Given the description of an element on the screen output the (x, y) to click on. 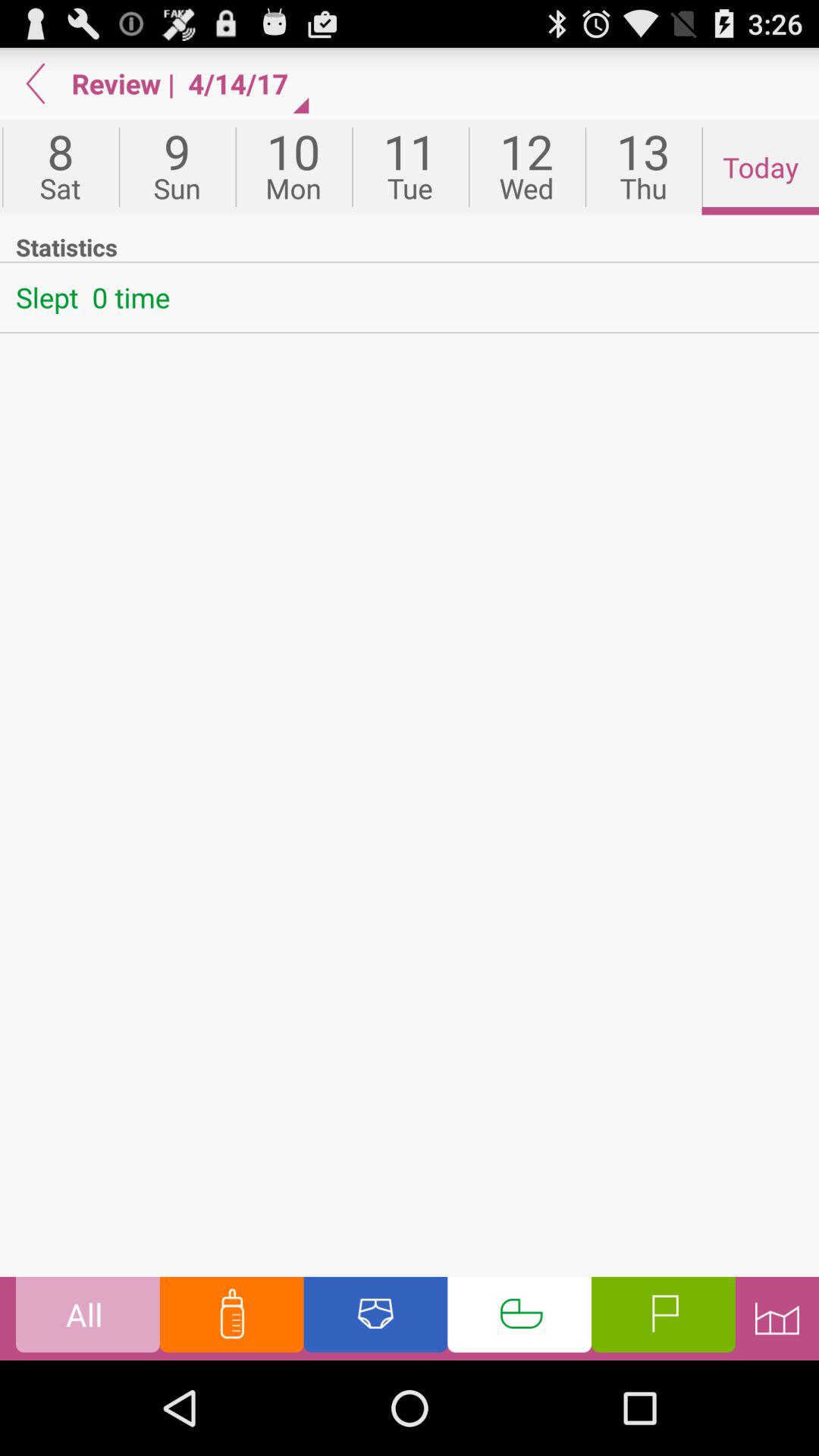
choose the app next to the 9 icon (60, 166)
